Given the description of an element on the screen output the (x, y) to click on. 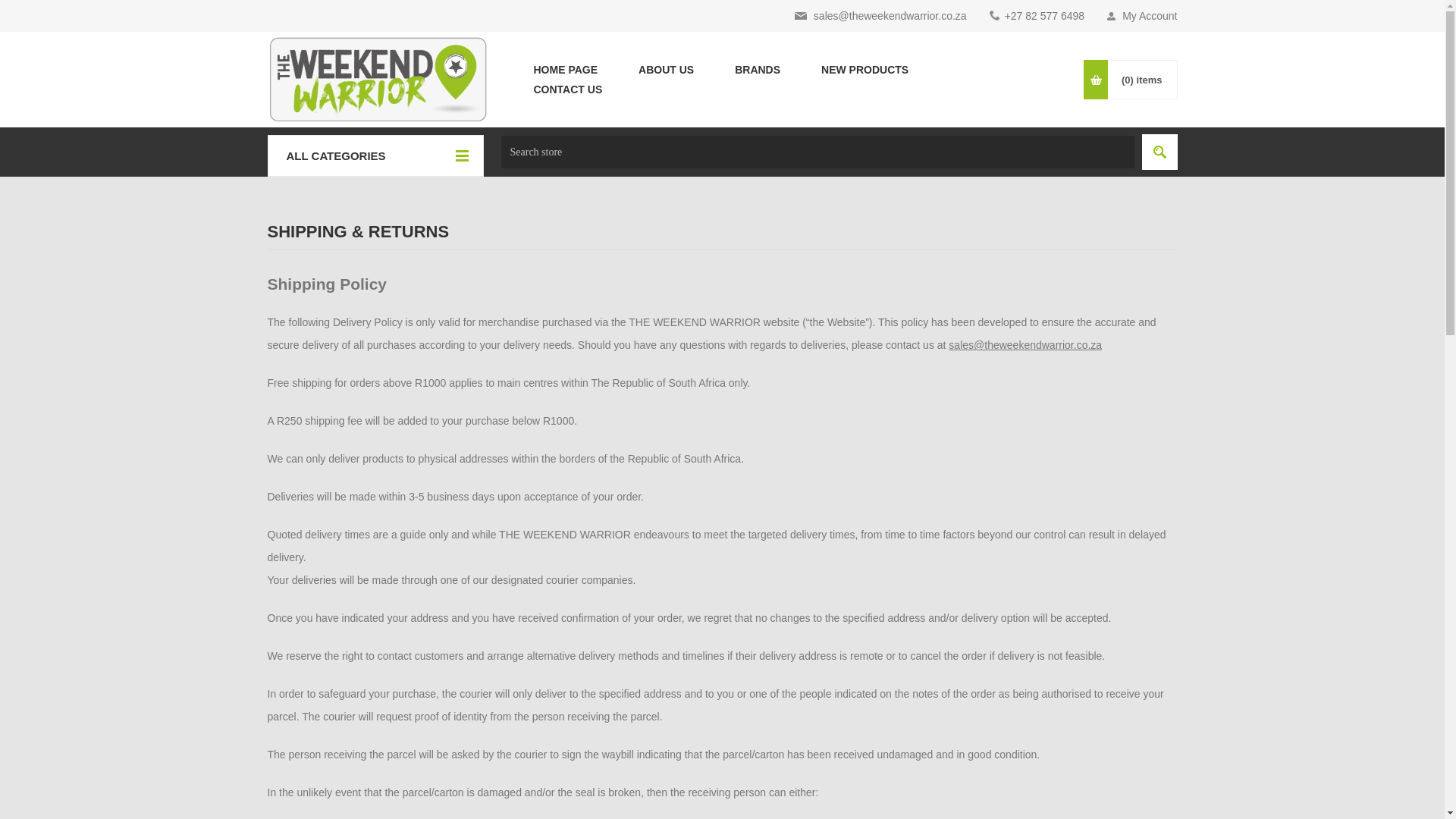
About Us (665, 69)
HOME PAGE (564, 69)
Search (1159, 151)
Home Page (564, 69)
Brands (757, 69)
Search (1159, 151)
NEW PRODUCTS (864, 69)
ABOUT US (665, 69)
CONTACT US (567, 89)
BRANDS (757, 69)
